Given the description of an element on the screen output the (x, y) to click on. 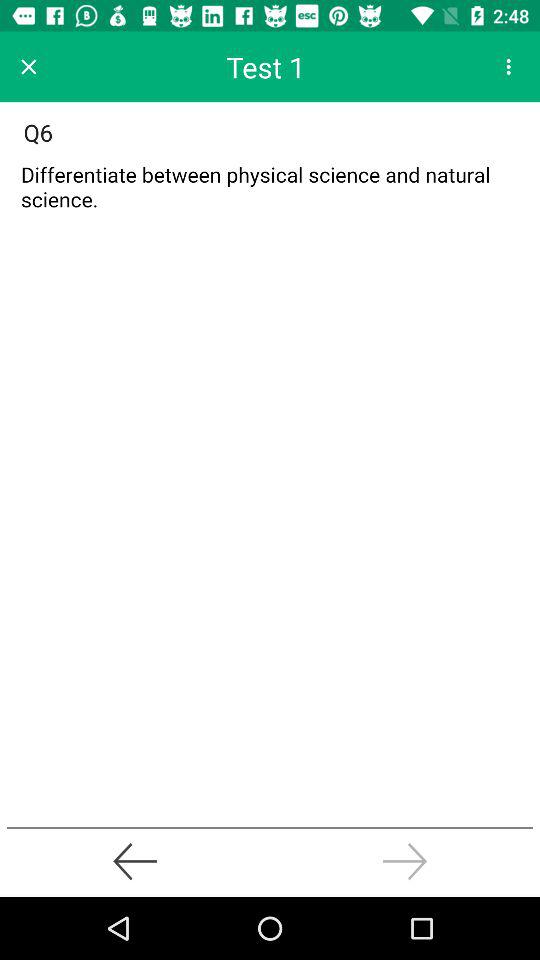
allow you to answer the question (269, 192)
